Given the description of an element on the screen output the (x, y) to click on. 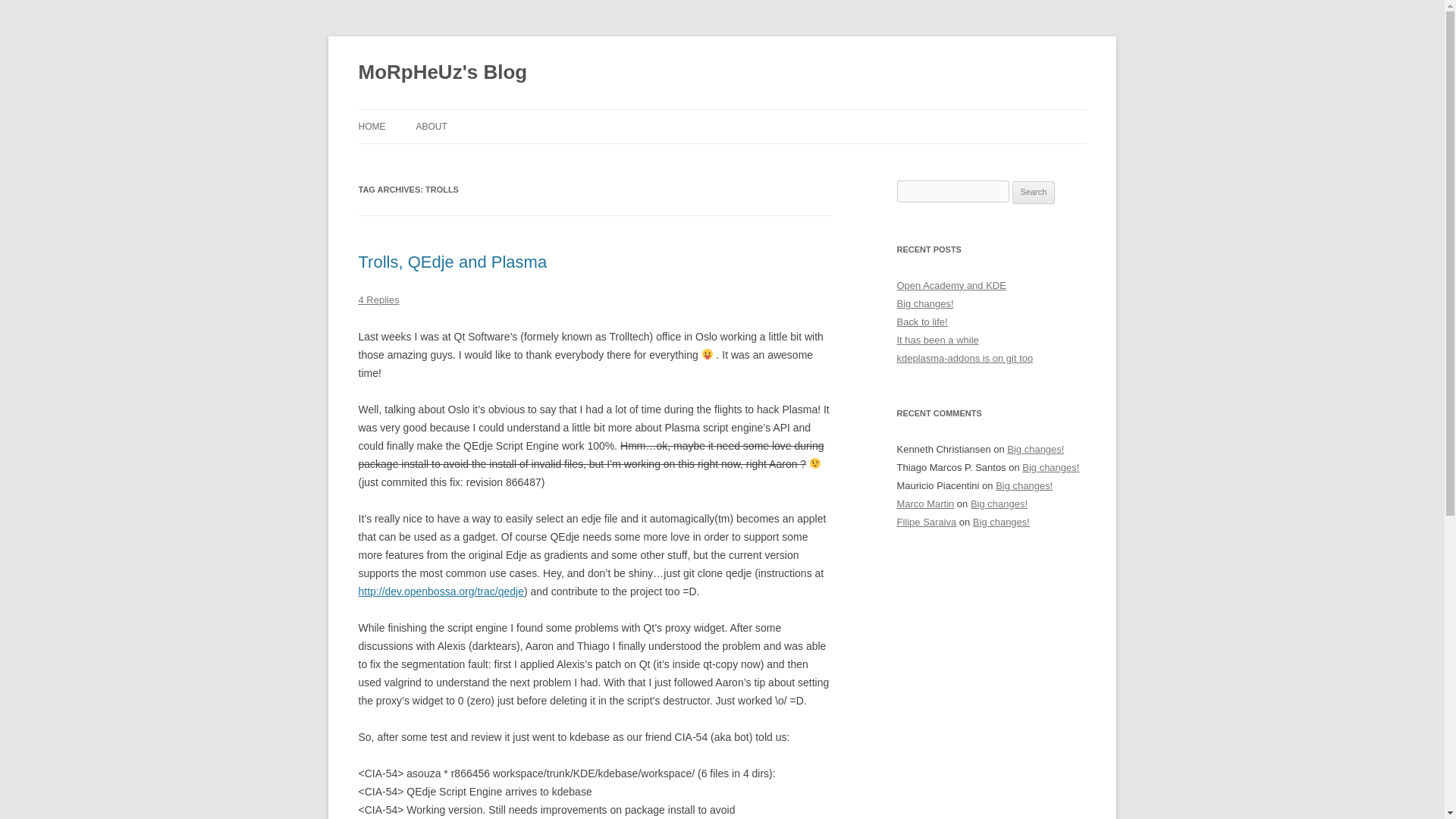
Back to life! (921, 321)
kdeplasma-addons is on git too (964, 357)
Search (1033, 191)
MoRpHeUz's Blog (442, 72)
Big changes! (1023, 485)
Big changes! (999, 503)
Big changes! (1050, 467)
Big changes! (1035, 449)
Open Academy and KDE (951, 285)
Search (1033, 191)
